Given the description of an element on the screen output the (x, y) to click on. 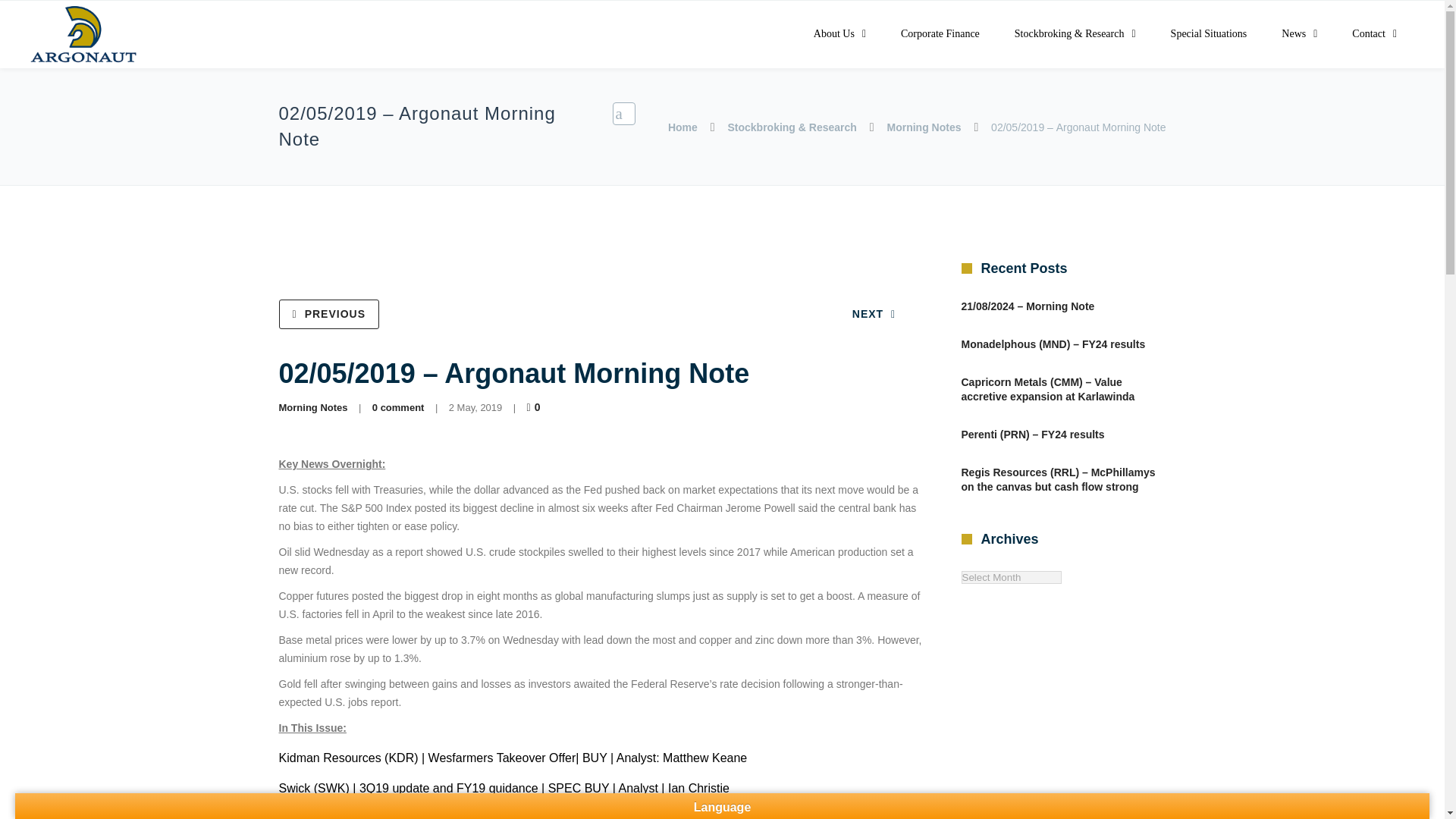
Corporate Finance (940, 33)
About Us (839, 33)
Contact (1374, 33)
Like this (535, 407)
0 comment (398, 407)
Morning Notes (923, 127)
Home (682, 127)
NEXT (874, 314)
Morning Notes (313, 407)
News (1299, 33)
